Given the description of an element on the screen output the (x, y) to click on. 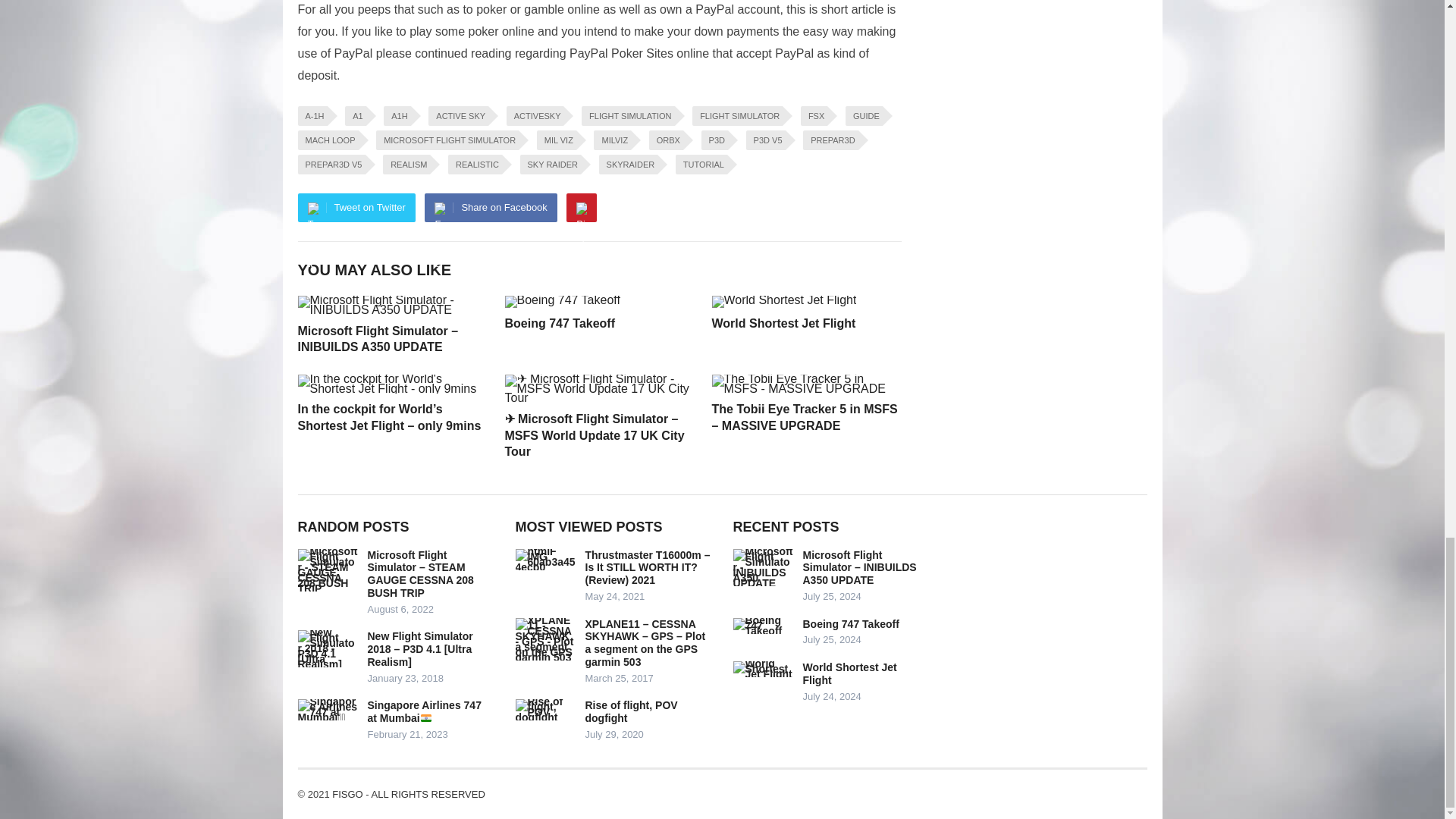
A1H (397, 116)
A-1H (311, 116)
ACTIVE SKY (457, 116)
Microsoft Flight Simulator - INIBUILDS A350 UPDATE 2 (391, 305)
Boeing 747 Takeoff 4 (562, 301)
World Shortest Jet Flight 6 (783, 301)
A1 (355, 116)
The Tobii Eye Tracker 5 in MSFS - MASSIVE UPGRADE 12 (805, 383)
